Given the description of an element on the screen output the (x, y) to click on. 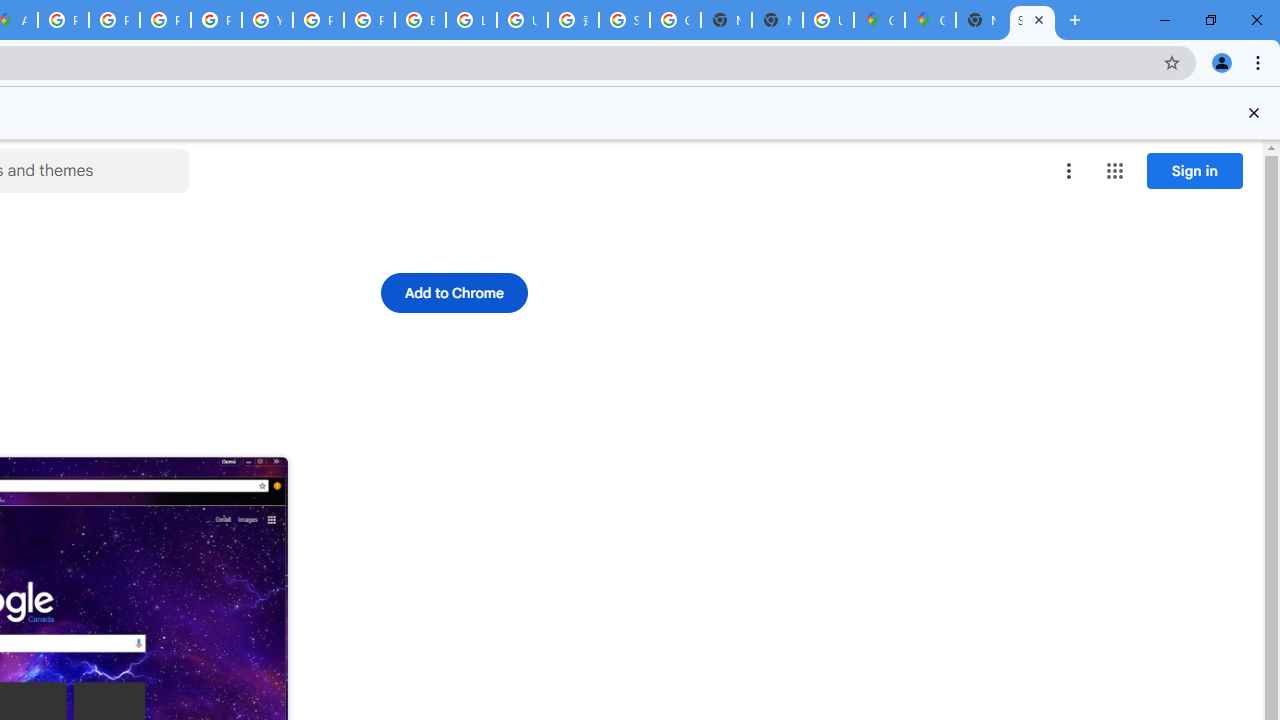
Policy Accountability and Transparency - Transparency Center (63, 20)
Privacy Help Center - Policies Help (164, 20)
New Tab (981, 20)
Use Google Maps in Space - Google Maps Help (827, 20)
